Given the description of an element on the screen output the (x, y) to click on. 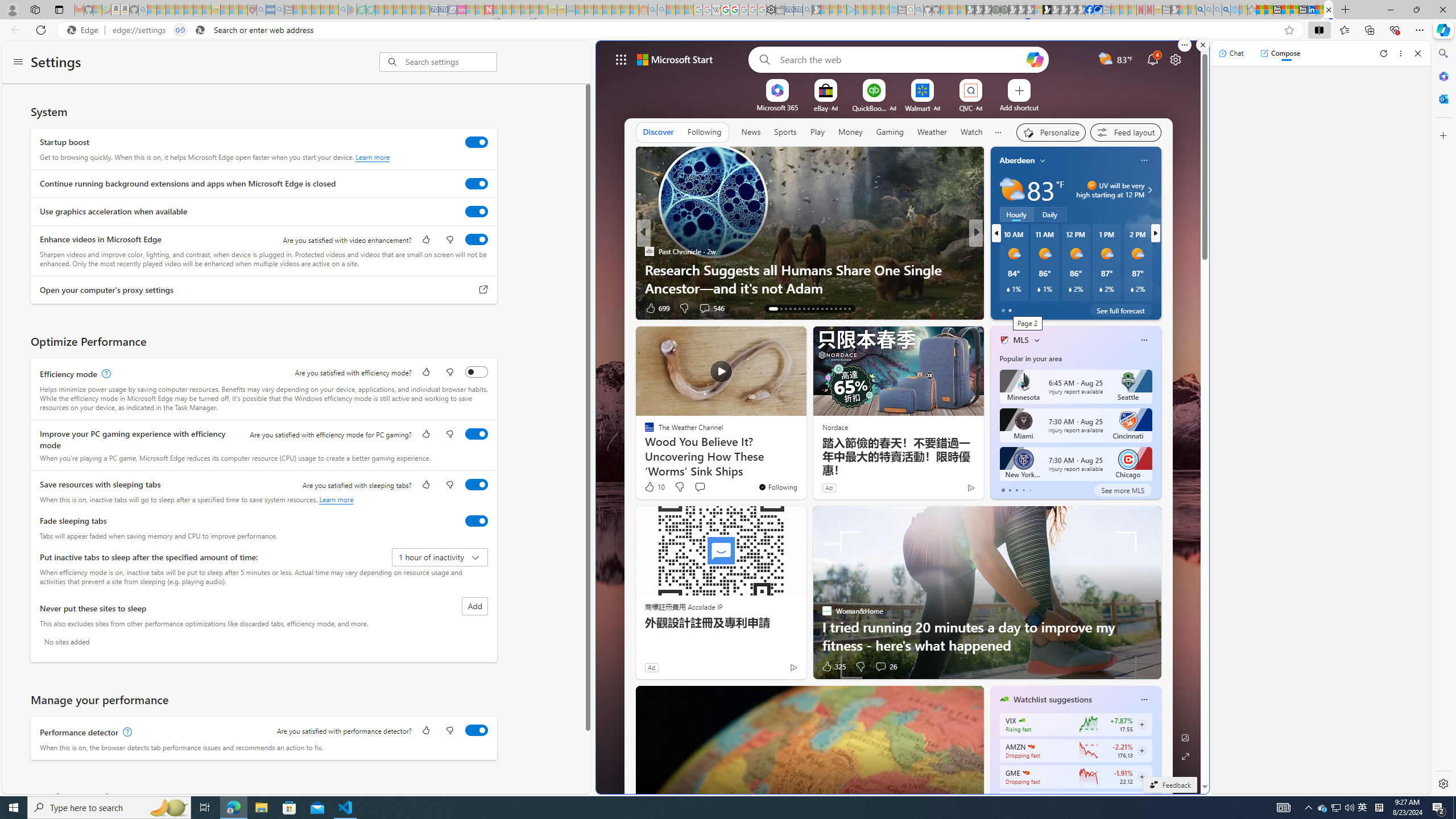
AutomationID: tab-18 (799, 308)
View comments 15 Comment (1059, 307)
Watchlist suggestions (1052, 699)
Google Chrome Internet Browser Download - Search Images (1225, 9)
tab-3 (1022, 489)
MSNBC - MSN - Sleeping (579, 9)
New Report Confirms 2023 Was Record Hot | Watch - Sleeping (188, 9)
CNBC (999, 250)
10 Like (654, 486)
